Given the description of an element on the screen output the (x, y) to click on. 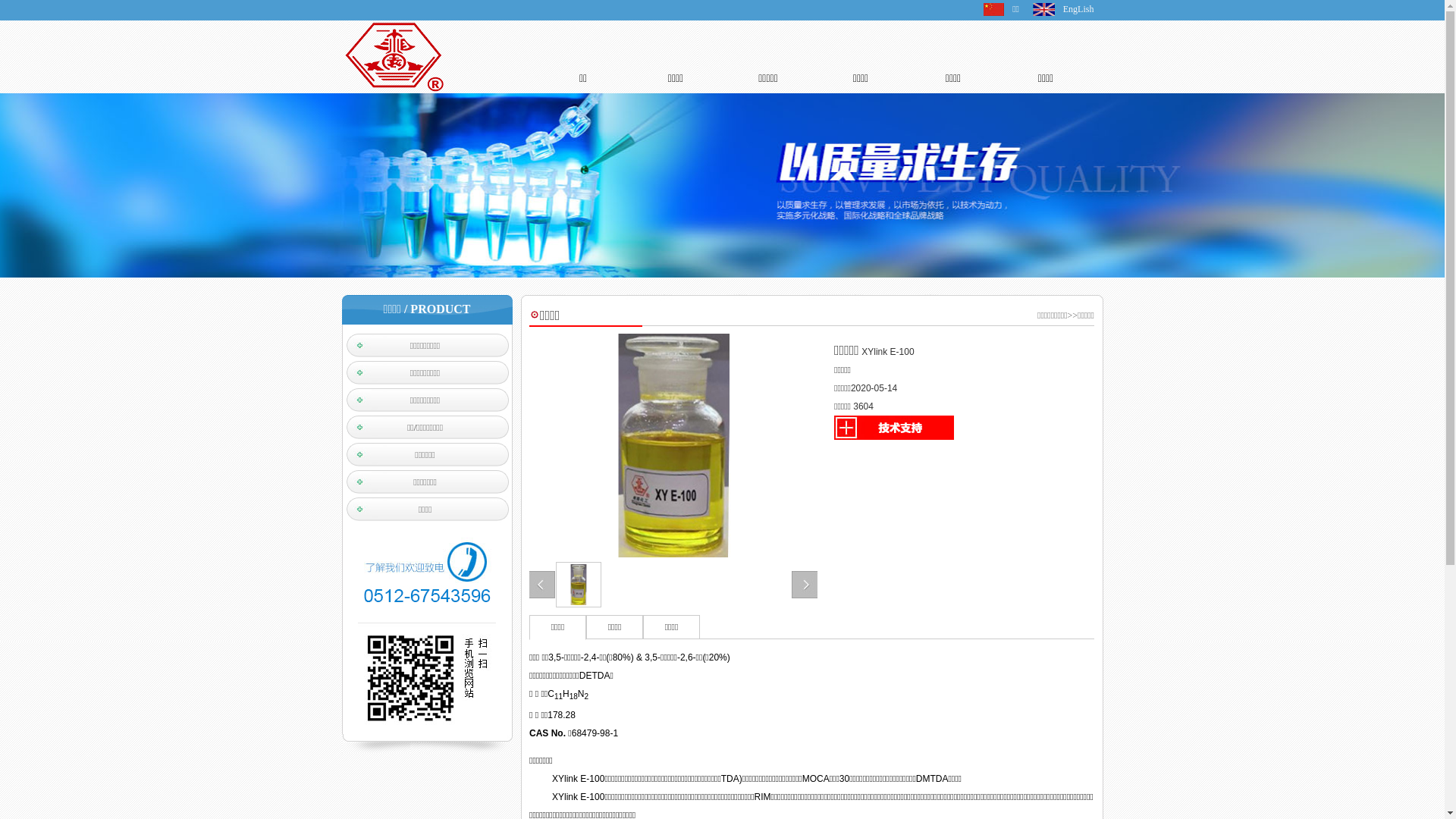
EngLish Element type: text (1078, 8)
